Given the description of an element on the screen output the (x, y) to click on. 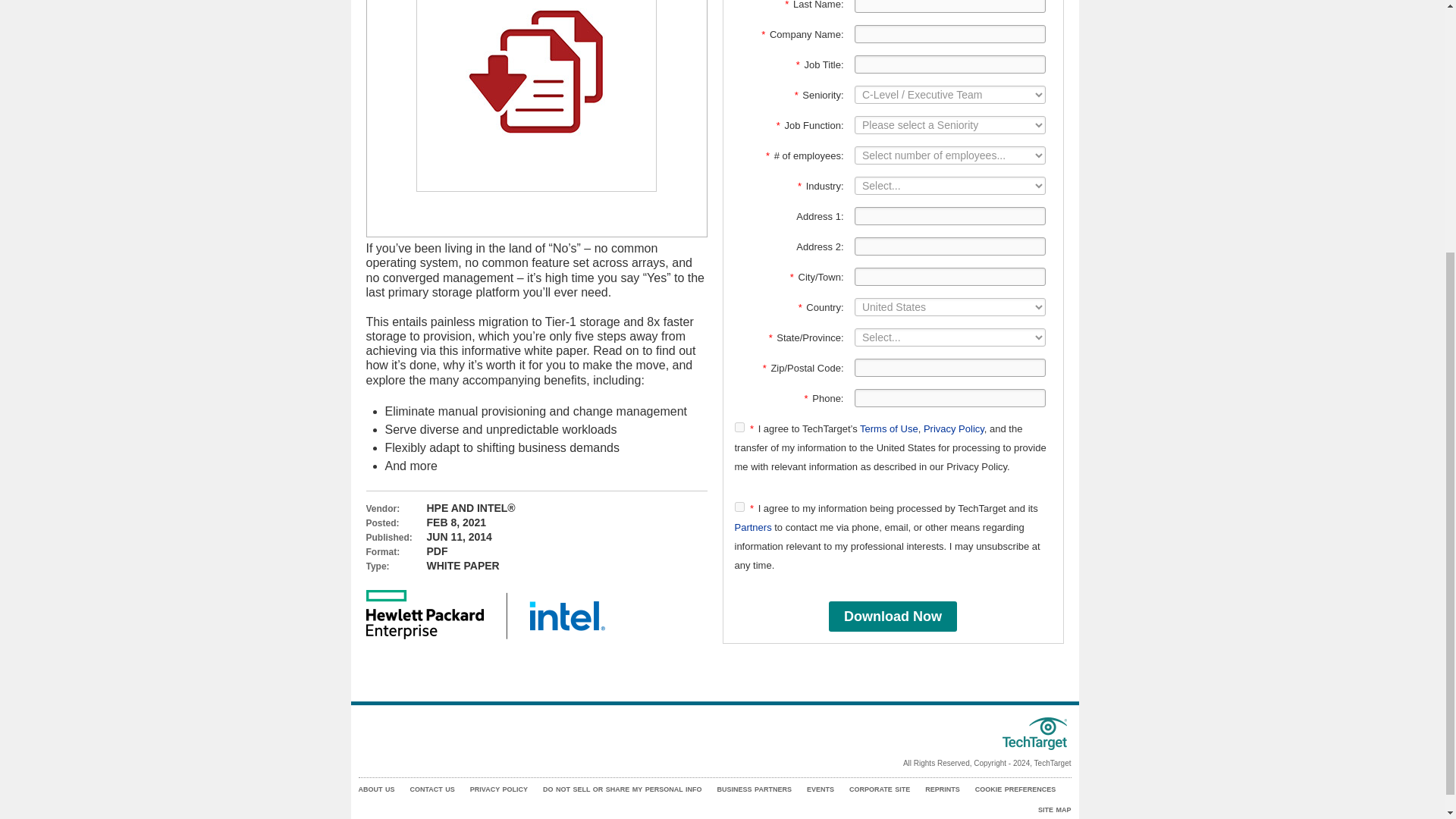
PRIVACY POLICY (498, 789)
Terms of Use (889, 428)
true (738, 506)
true (738, 427)
Download Now (892, 616)
DO NOT SELL OR SHARE MY PERSONAL INFO (622, 789)
EVENTS (820, 789)
BUSINESS PARTNERS (754, 789)
REPRINTS (941, 789)
Privacy Policy (953, 428)
ABOUT US (376, 789)
COOKIE PREFERENCES (1016, 789)
Download Now (892, 616)
SITE MAP (1054, 809)
CONTACT US (431, 789)
